Given the description of an element on the screen output the (x, y) to click on. 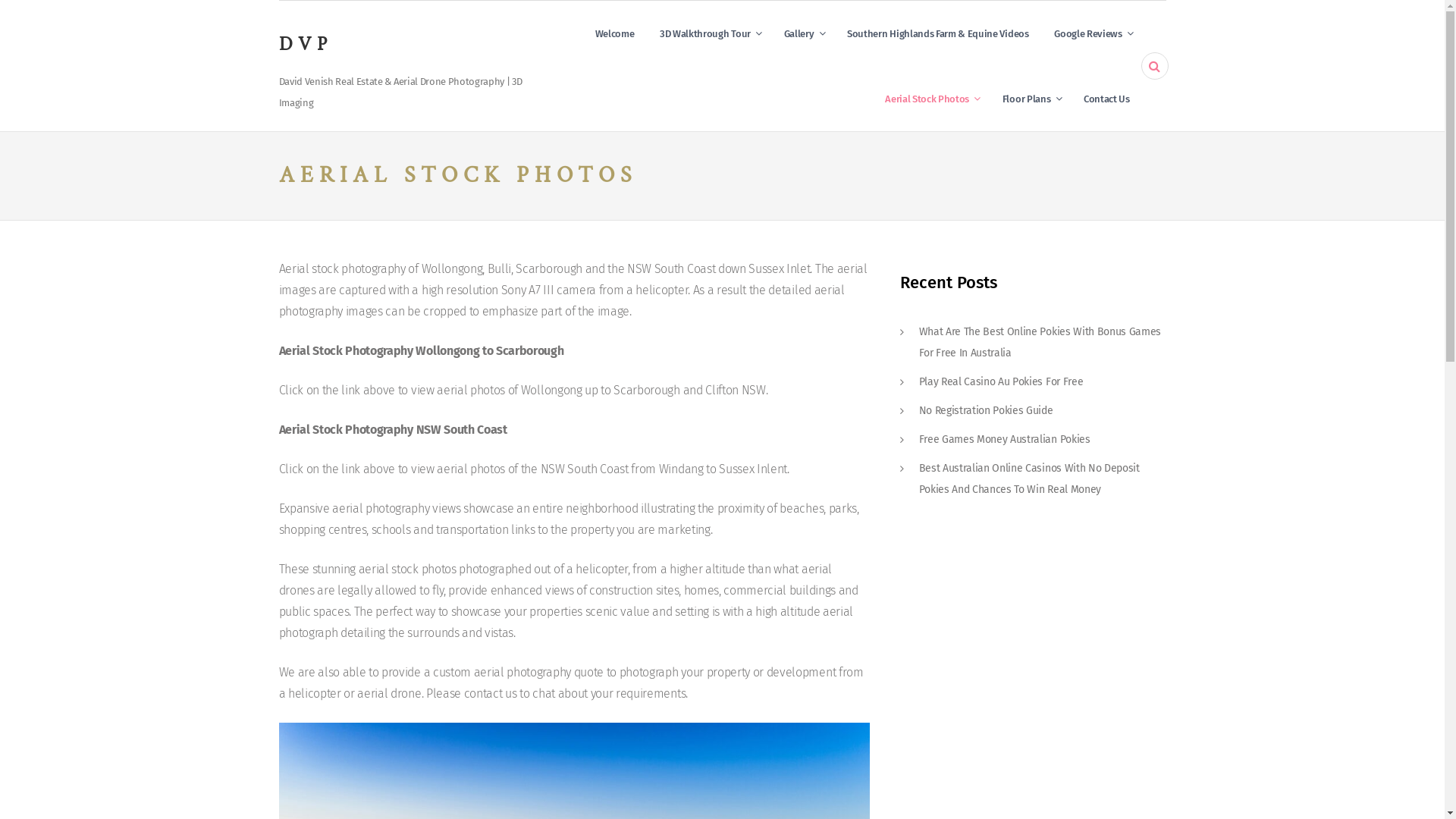
Ae Element type: text (285, 429)
Gallery Element type: text (802, 32)
Google Reviews Element type: text (1091, 32)
Southern Highlands Farm & Equine Videos Element type: text (937, 32)
rial Stock Photography NSW South Coast Element type: text (399, 429)
Aerial Stock Photos Element type: text (930, 98)
Play Real Casino Au Pokies For Free Element type: text (1001, 381)
Aerial Stock Photography Wollongong to Scarborough Element type: text (421, 350)
No Registration Pokies Guide Element type: text (986, 410)
Free Games Money Australian Pokies Element type: text (1004, 439)
Contact Us Element type: text (1106, 98)
Floor Plans Element type: text (1030, 98)
DVP Element type: text (305, 43)
3D Walkthrough Tour Element type: text (708, 32)
Welcome Element type: text (614, 32)
